Given the description of an element on the screen output the (x, y) to click on. 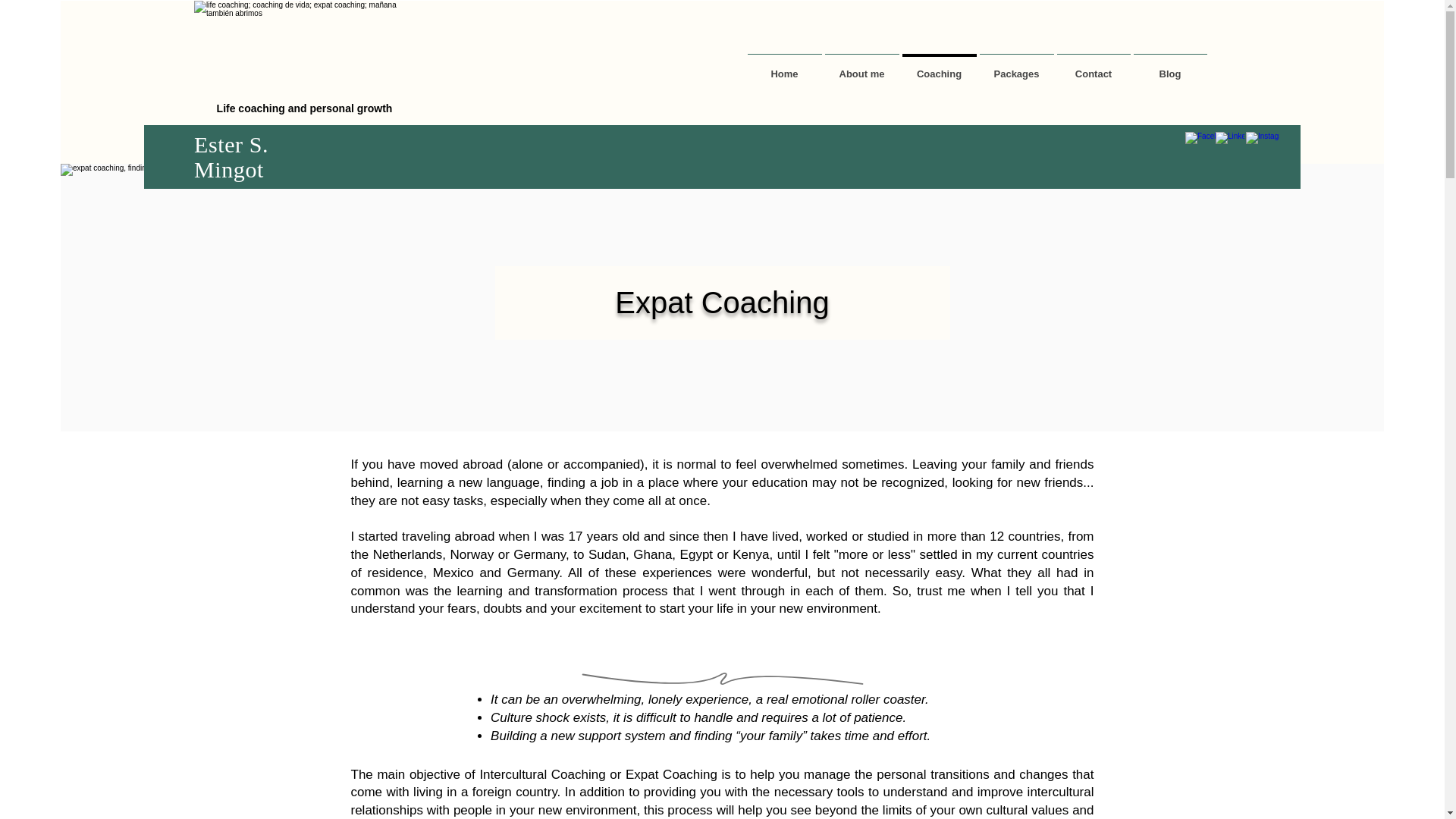
Contact (1093, 67)
Life coachng to navigate trnsitions (303, 64)
Home (784, 67)
Packages (1016, 67)
About me (862, 67)
Ester S. Mingot (230, 156)
Blog (1169, 67)
Coaching (939, 67)
